Given the description of an element on the screen output the (x, y) to click on. 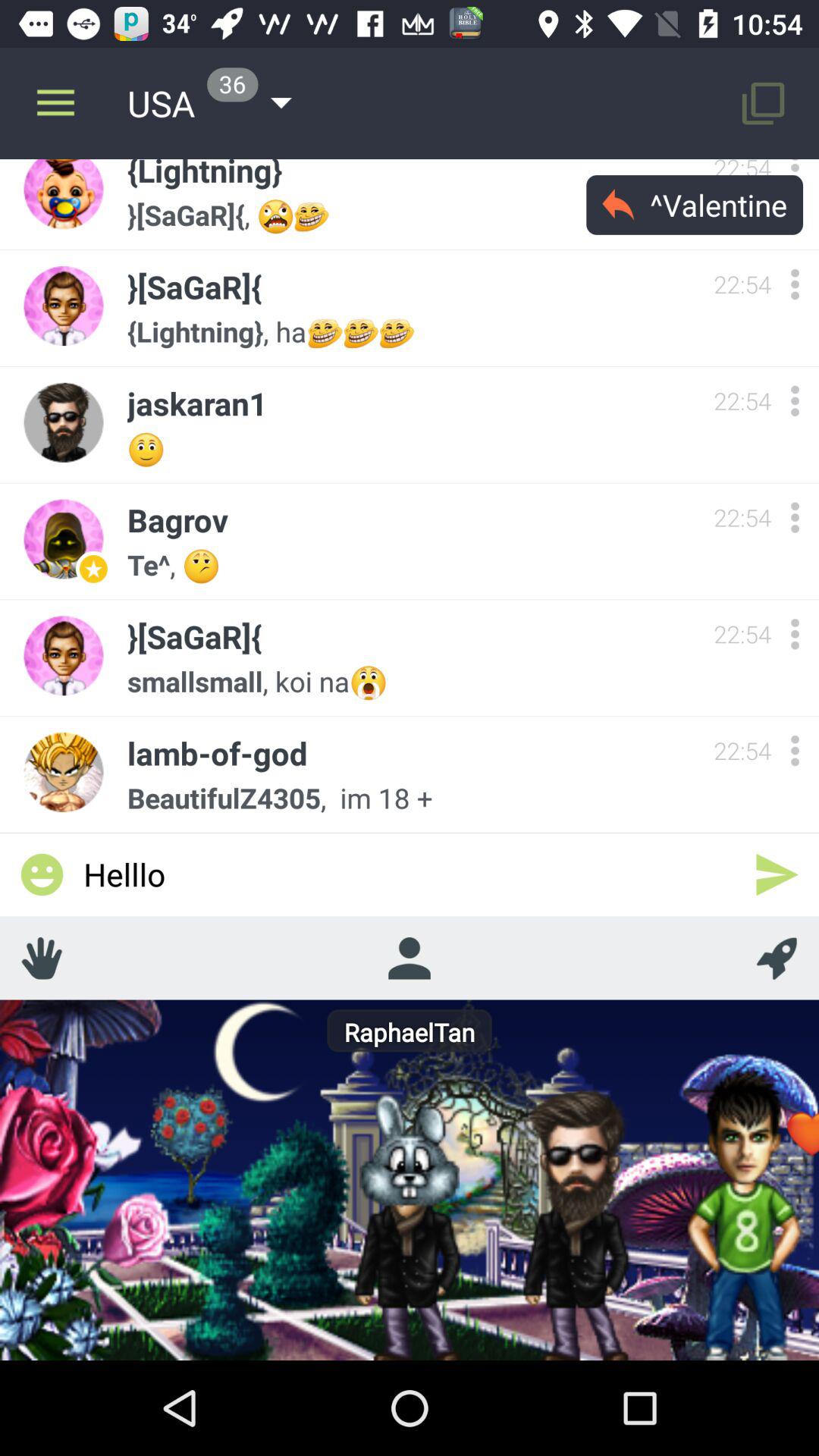
block user (795, 634)
